Given the description of an element on the screen output the (x, y) to click on. 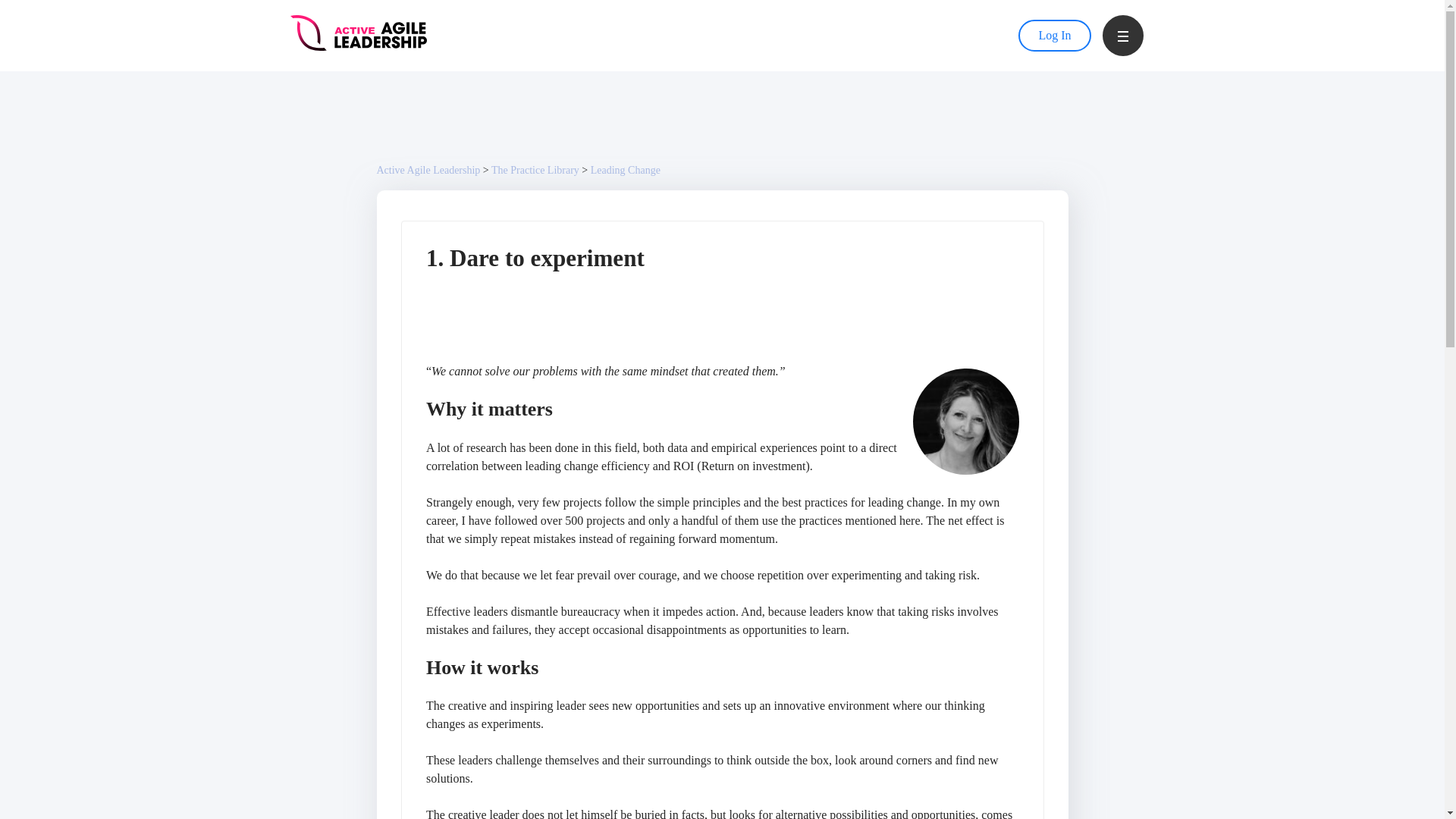
Active Agile Leadership (427, 170)
Go to The Practice Library. (535, 170)
Go to Active Agile Leadership. (427, 170)
Leading Change (626, 170)
The Practice Library (535, 170)
Log In (1053, 35)
Go to the Leading Change Skill set archives. (626, 170)
